Given the description of an element on the screen output the (x, y) to click on. 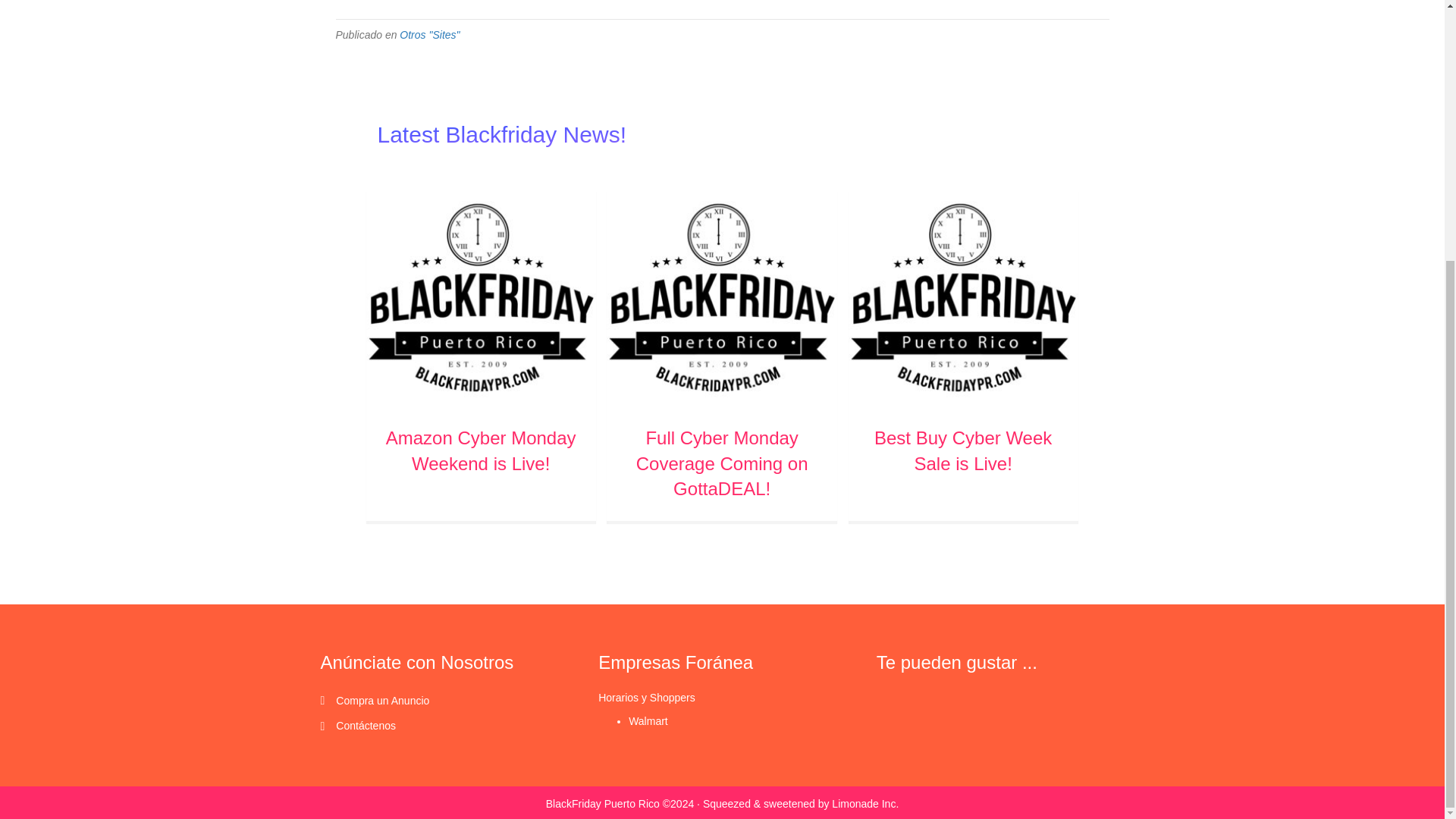
Amazon Cyber Monday Weekend is Live! (480, 296)
sweetened by Limonade Inc. (830, 803)
Best Buy Cyber Week Sale is Live! (963, 450)
Full Cyber Monday Coverage Coming on GottaDEAL! (722, 462)
Otros "Sites" (429, 34)
Horarios y Shoppers (646, 697)
Best Buy Cyber Week Sale is Live! (962, 296)
Amazon Cyber Monday Weekend is Live! (480, 450)
Limonade Inc (830, 803)
Full Cyber Monday Coverage Coming on GottaDEAL! (722, 462)
